Given the description of an element on the screen output the (x, y) to click on. 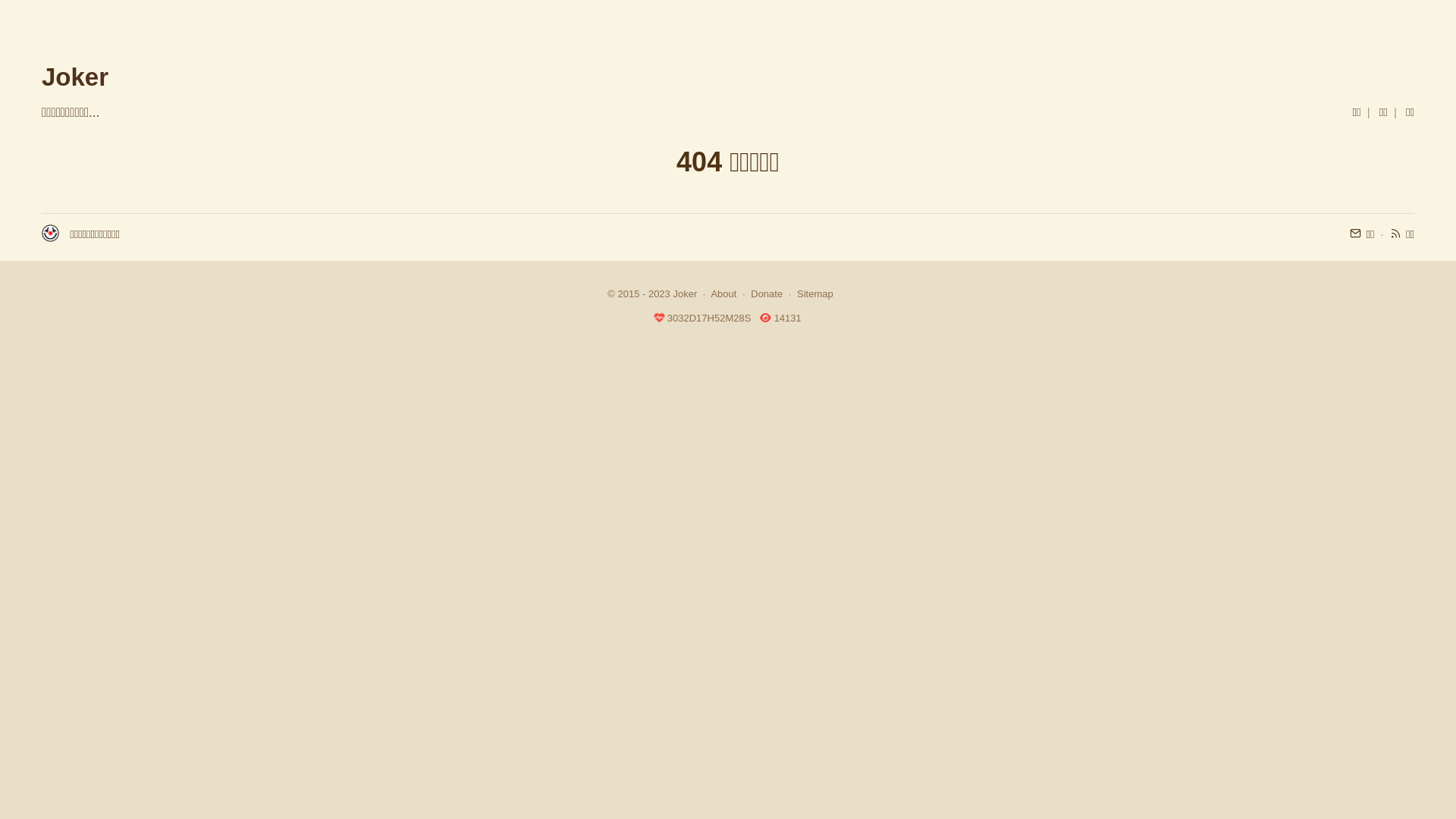
Joker Element type: text (74, 76)
Donate Element type: text (766, 293)
About Element type: text (723, 293)
Joker Element type: text (685, 293)
Sitemap Element type: text (815, 293)
